Given the description of an element on the screen output the (x, y) to click on. 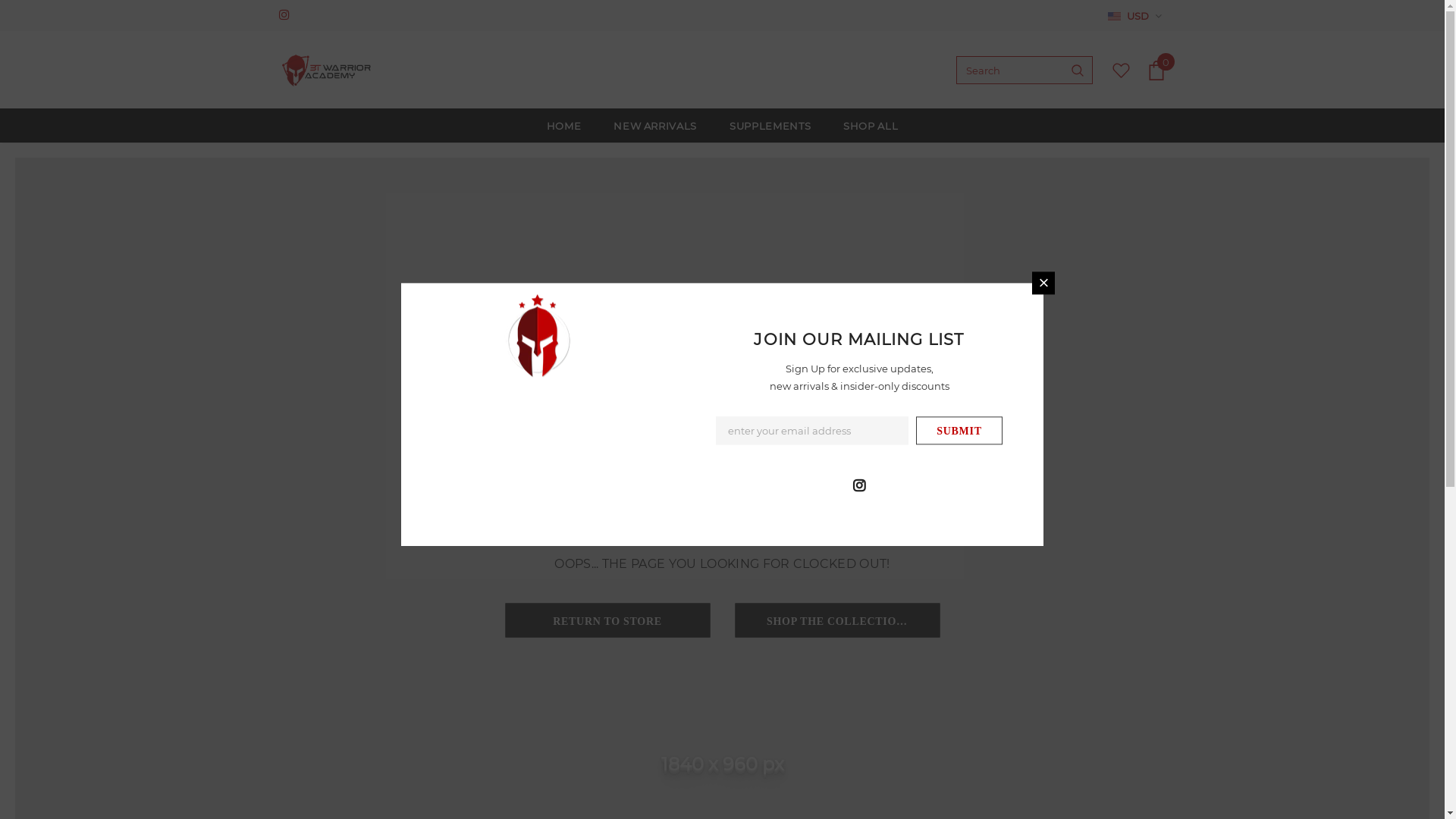
SHOP ALL Element type: text (870, 125)
Logo Element type: hover (327, 70)
0 Element type: text (1156, 70)
SUPPLEMENTS Element type: text (769, 125)
Instagram Element type: hover (858, 484)
Close Element type: hover (1043, 282)
SHOP THE COLLECTIONS Element type: text (836, 619)
HOME Element type: text (563, 125)
RETURN TO STORE Element type: text (607, 619)
Submit Element type: text (959, 430)
NEW ARRIVALS Element type: text (654, 125)
Instagram Element type: hover (288, 14)
